Given the description of an element on the screen output the (x, y) to click on. 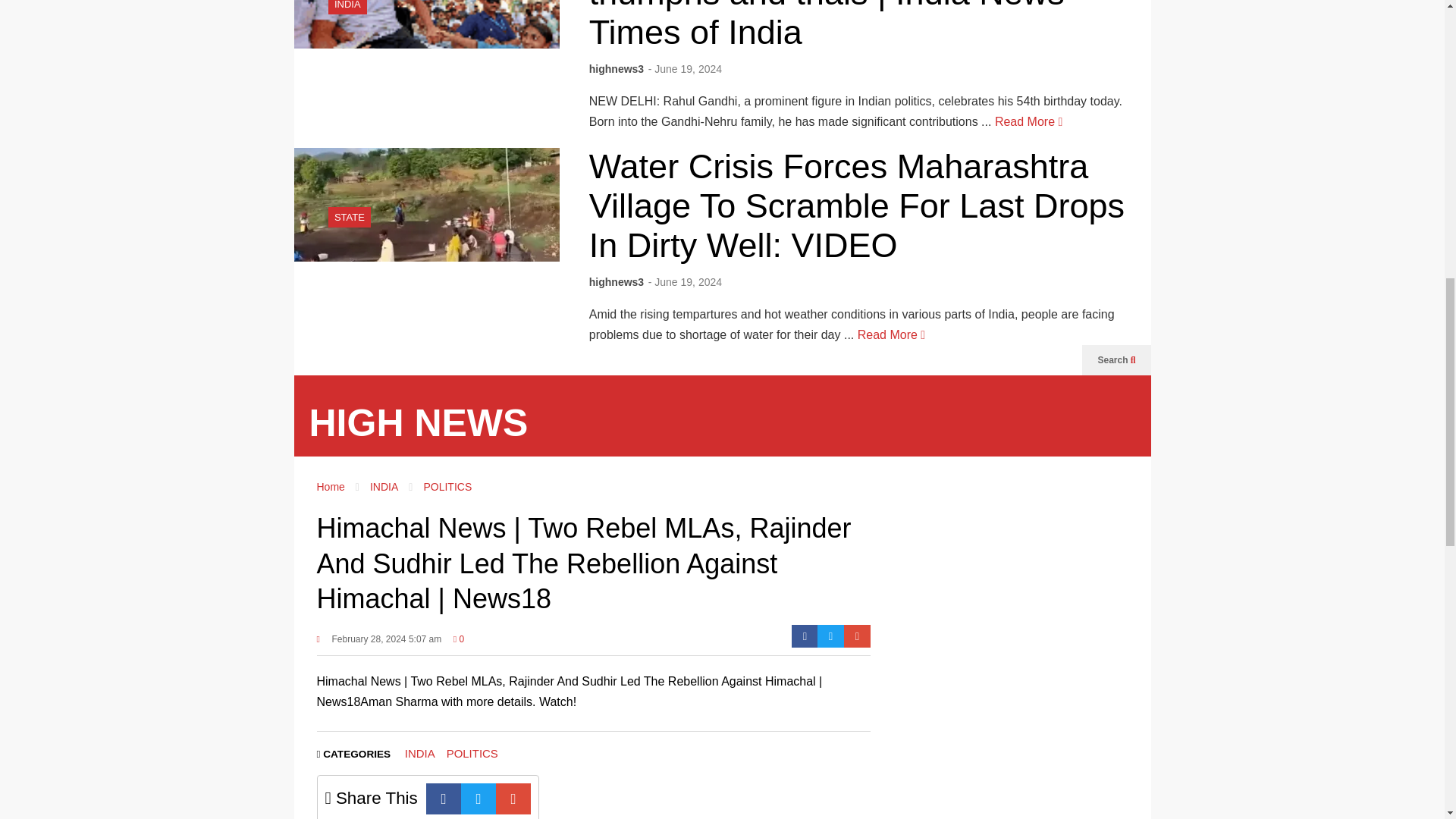
Read More (890, 334)
INDIA (347, 4)
STATE (349, 216)
HIGH NEWS (418, 423)
- June 19, 2024 (684, 282)
Read More (1028, 121)
highnews3 (616, 282)
- June 19, 2024 (684, 69)
INDIA (347, 4)
